Given the description of an element on the screen output the (x, y) to click on. 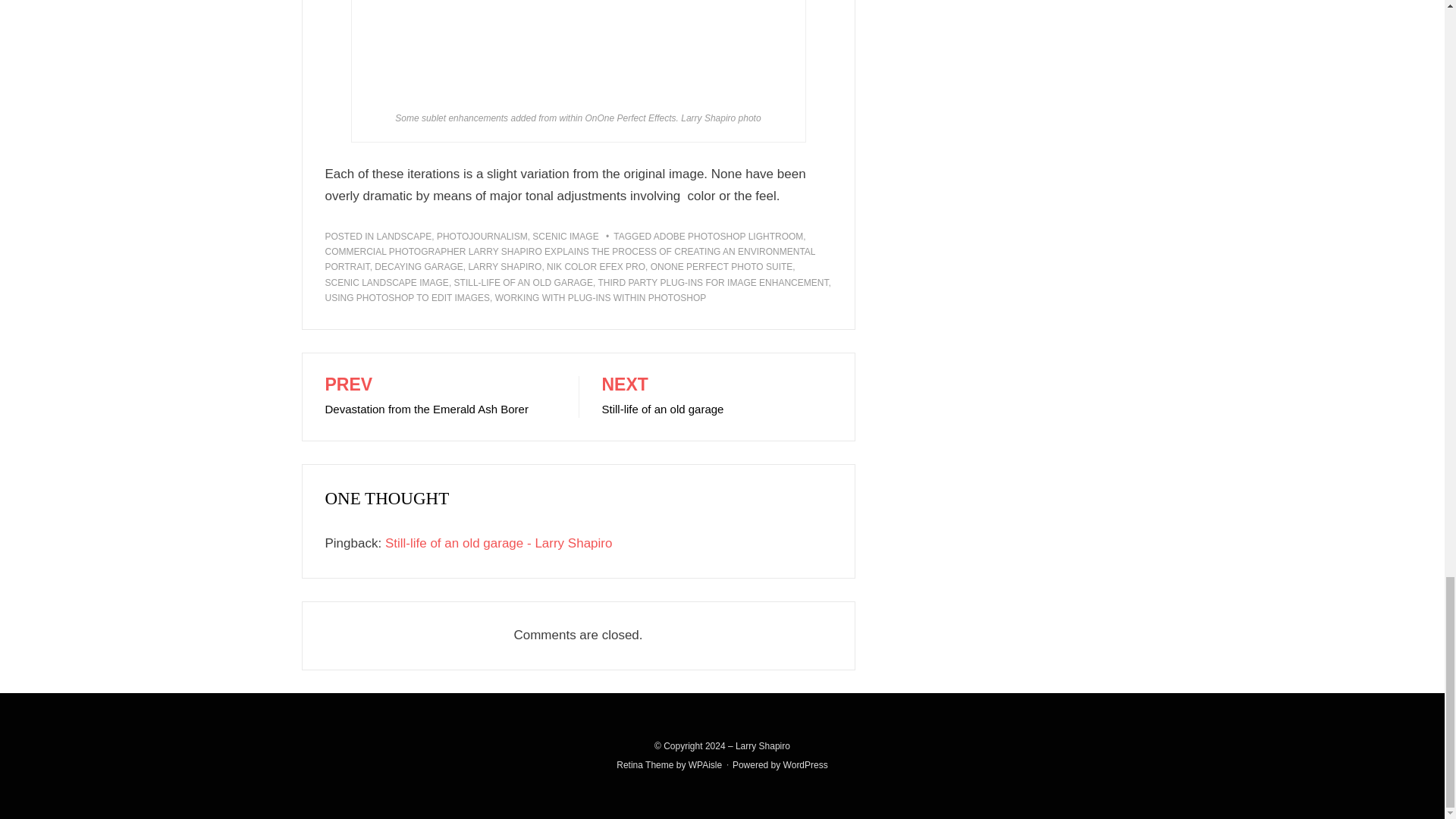
DECAYING GARAGE (418, 266)
SCENIC IMAGE (565, 235)
NIK COLOR EFEX PRO (596, 266)
WordPress (805, 765)
ONONE PERFECT PHOTO SUITE (716, 396)
THIRD PARTY PLUG-INS FOR IMAGE ENHANCEMENT (721, 266)
WPAisle (712, 282)
